Given the description of an element on the screen output the (x, y) to click on. 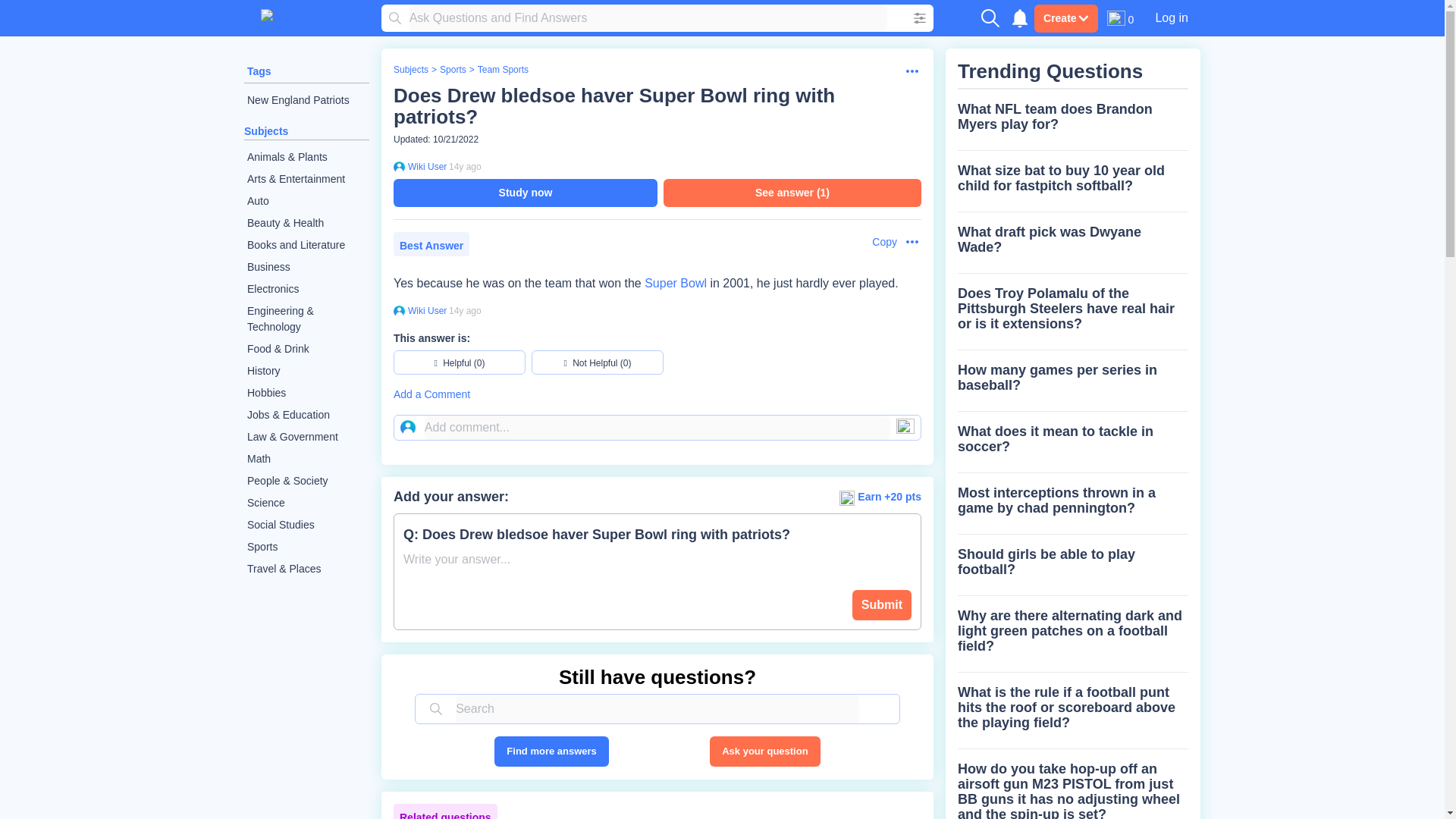
Copy (876, 242)
Super Bowl (675, 282)
Tags (258, 70)
2009-09-07 11:59:19 (464, 166)
Create (1065, 18)
New England Patriots (306, 100)
Sports (306, 546)
Auto (306, 201)
Subjects (266, 131)
Does Drew bledsoe haver Super Bowl ring with patriots? (613, 105)
